Given the description of an element on the screen output the (x, y) to click on. 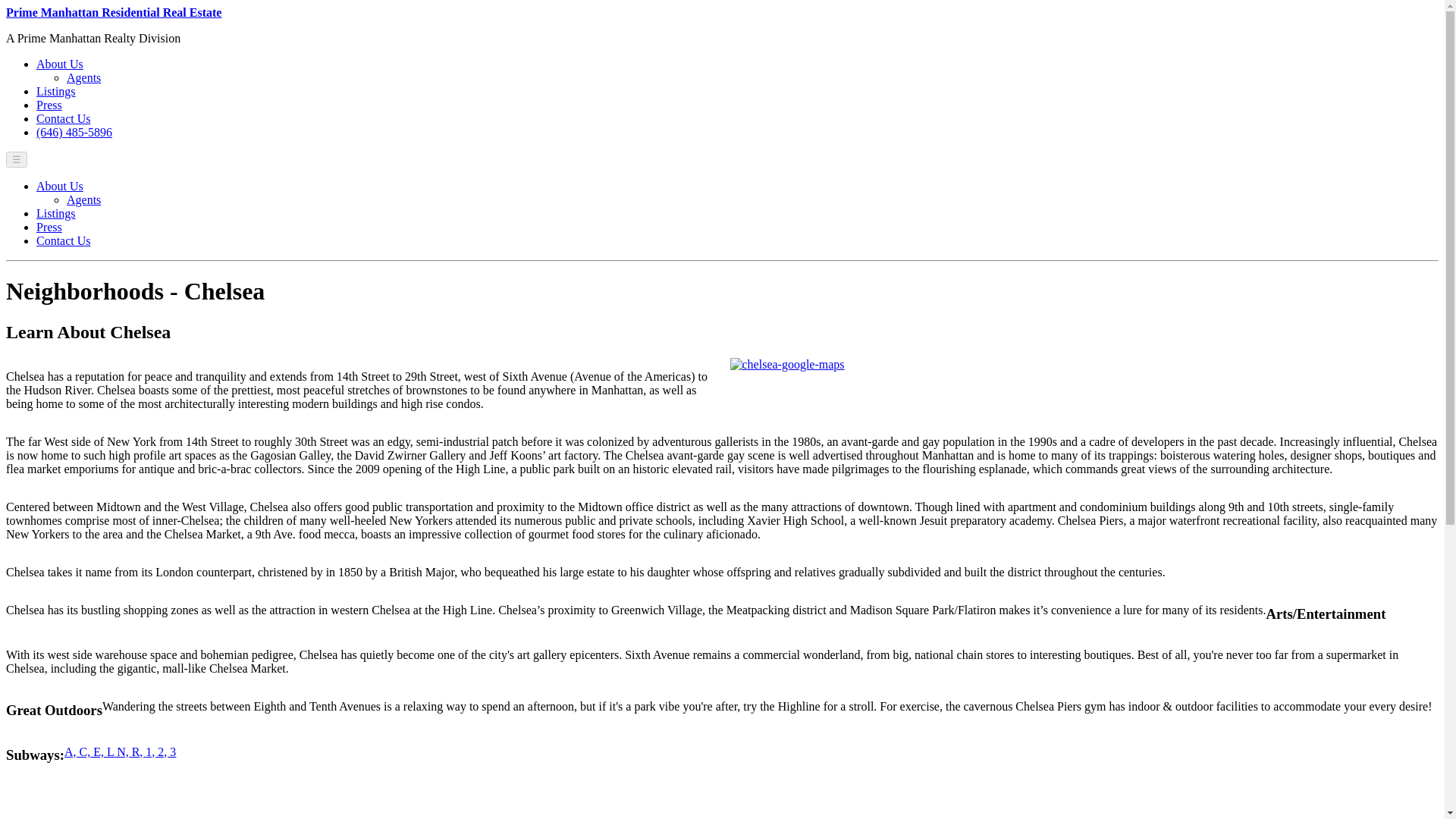
A, C, E, L (88, 751)
Contact Us (63, 240)
Prime Manhattan Residential Real Estate (113, 11)
Press (49, 226)
About Us (59, 63)
Prime Manhattan Residential Real Estate (113, 11)
Agents (83, 199)
Agents (83, 77)
1, 2, 3 (160, 751)
Listings (55, 213)
Listings (55, 91)
Contact Us (63, 118)
Press (49, 104)
chelsea (786, 364)
Main Menu (16, 159)
